Given the description of an element on the screen output the (x, y) to click on. 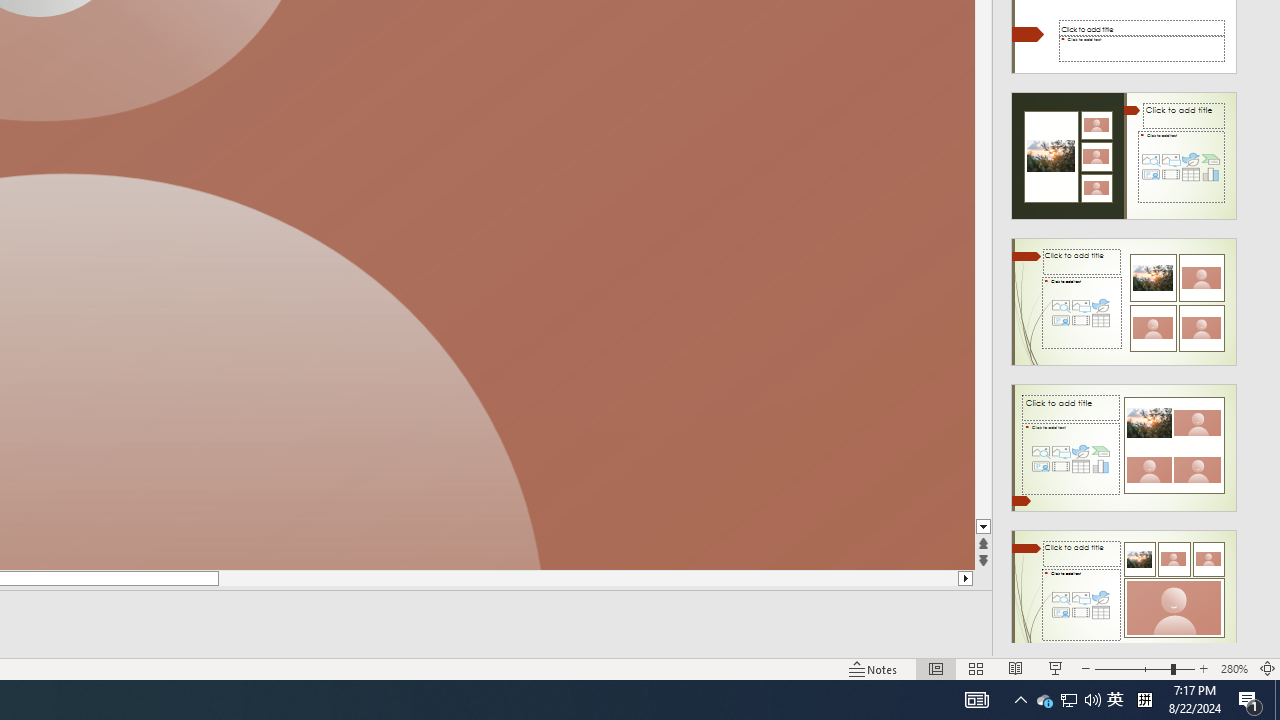
Zoom 280% (1234, 668)
